Given the description of an element on the screen output the (x, y) to click on. 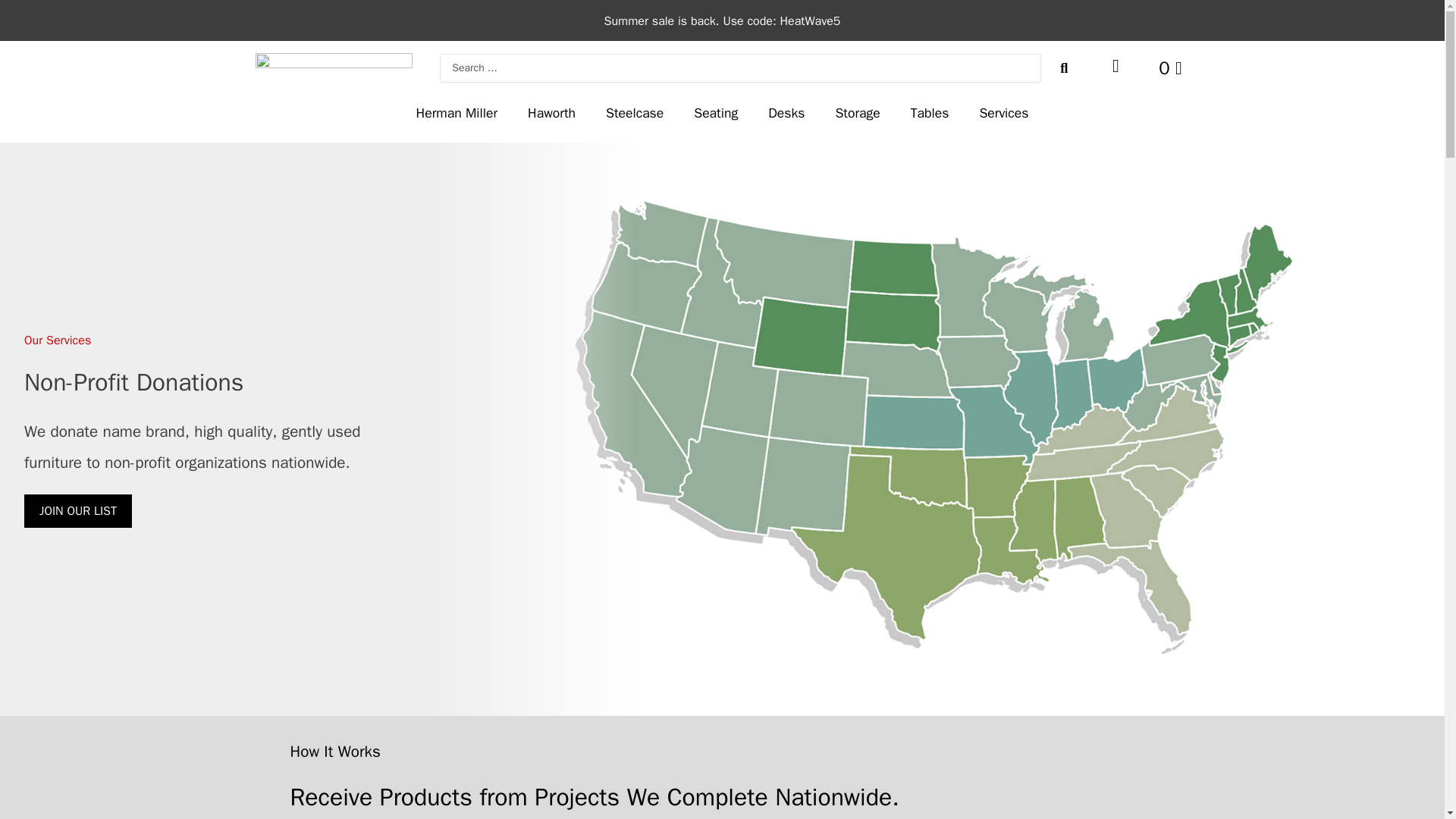
Seating (715, 112)
Herman Miller (457, 112)
Storage (857, 112)
0 (1169, 67)
Tables (929, 112)
Steelcase (634, 112)
Haworth (551, 112)
Desks (785, 112)
Services (1003, 112)
